Given the description of an element on the screen output the (x, y) to click on. 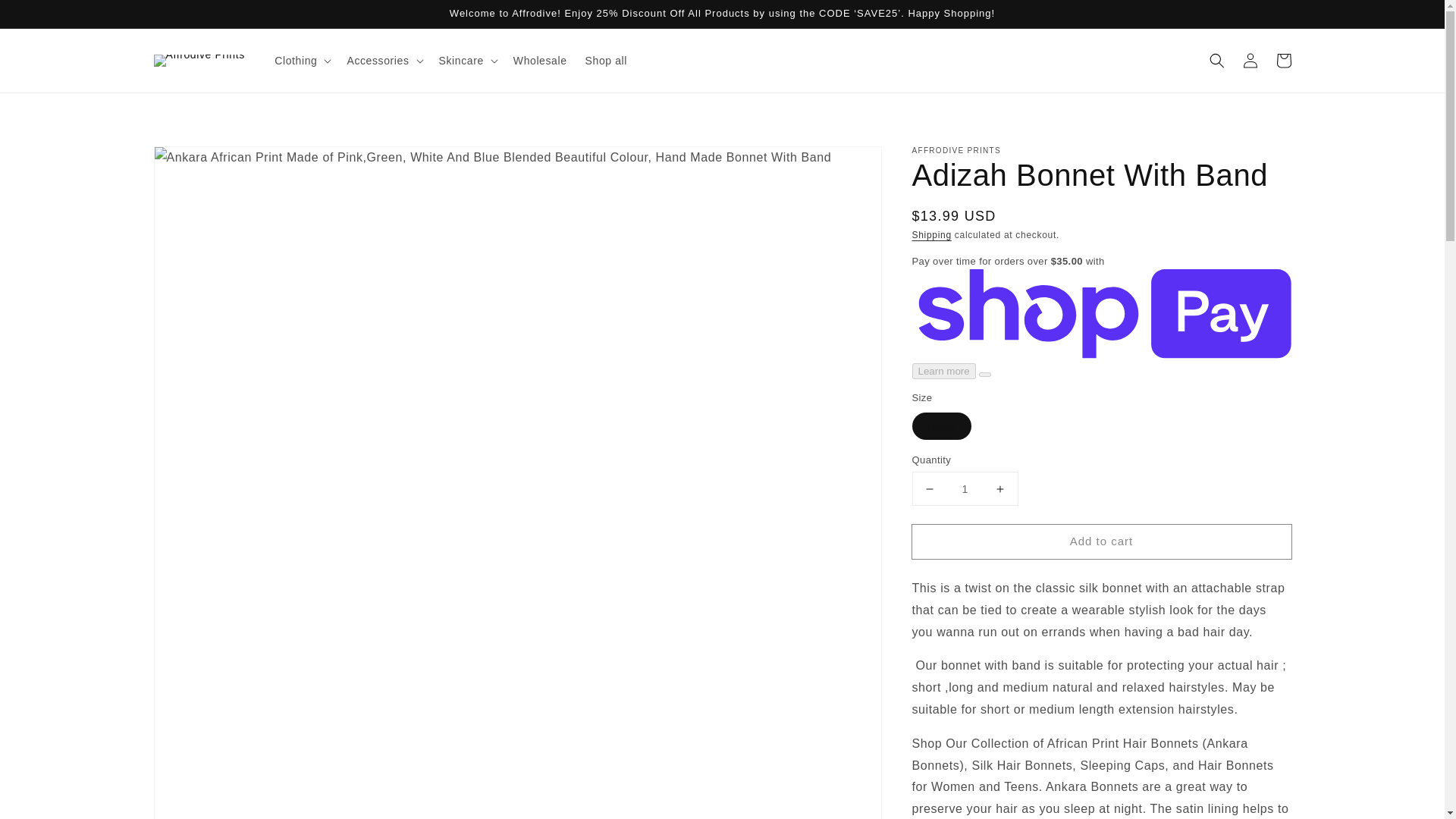
Skip to content (45, 16)
1 (964, 488)
